Given the description of an element on the screen output the (x, y) to click on. 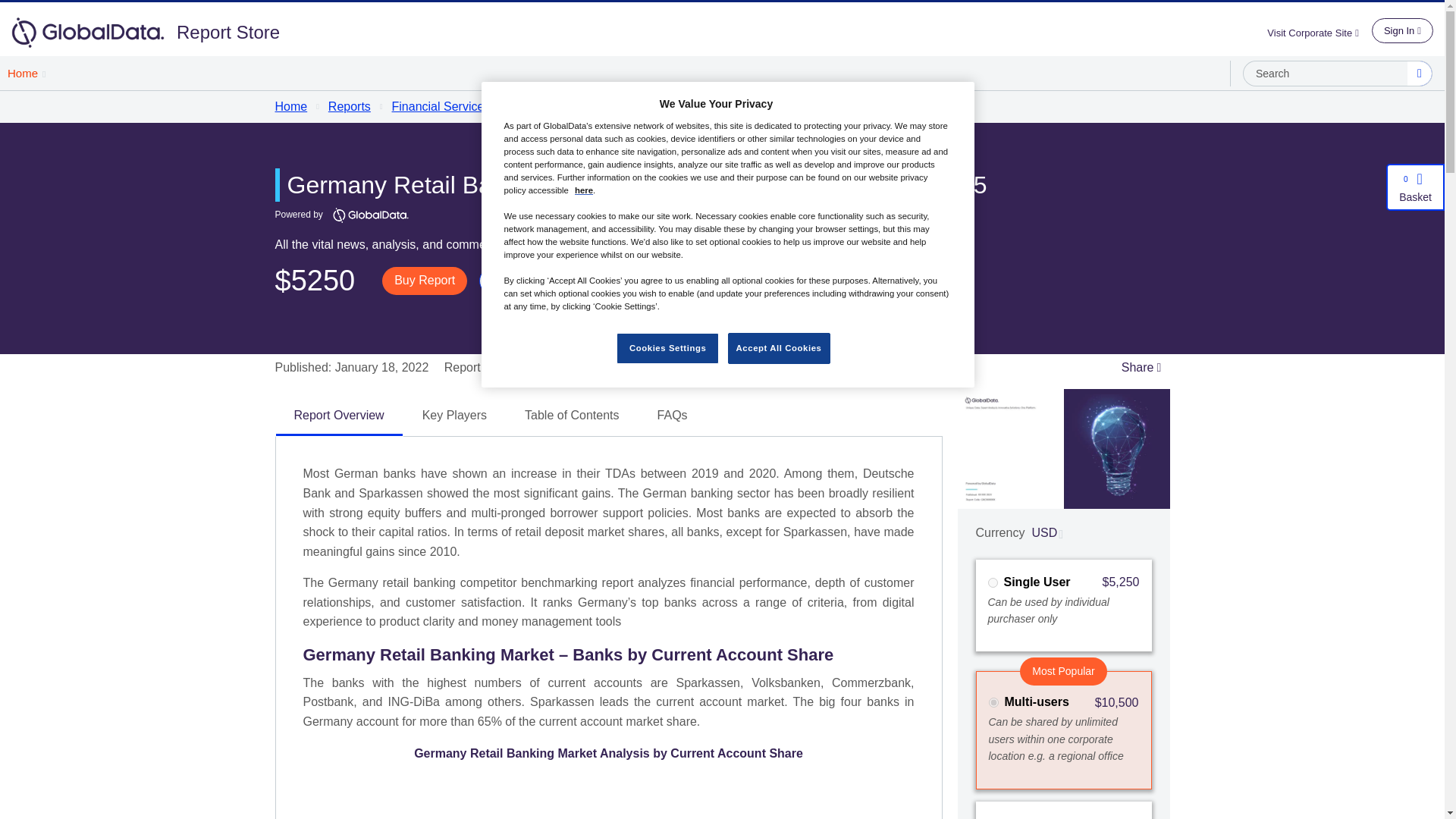
3079388 (992, 583)
Visit Corporate Site (1318, 31)
Sign In (1401, 30)
3079389 (993, 702)
Home (26, 73)
